Given the description of an element on the screen output the (x, y) to click on. 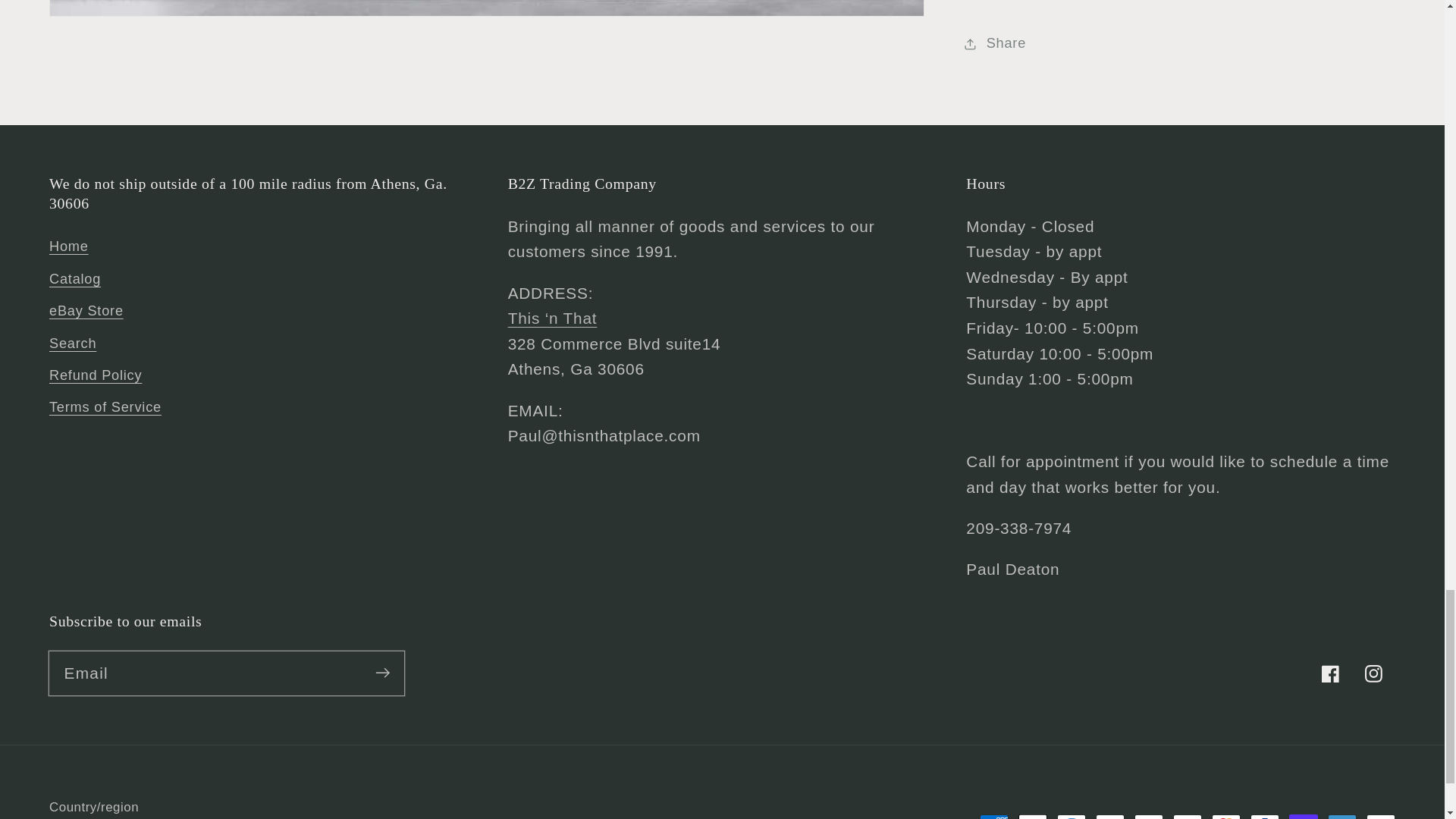
Home (68, 248)
This 'n That Place (552, 317)
Catalog (74, 278)
eBay Store (86, 311)
